Given the description of an element on the screen output the (x, y) to click on. 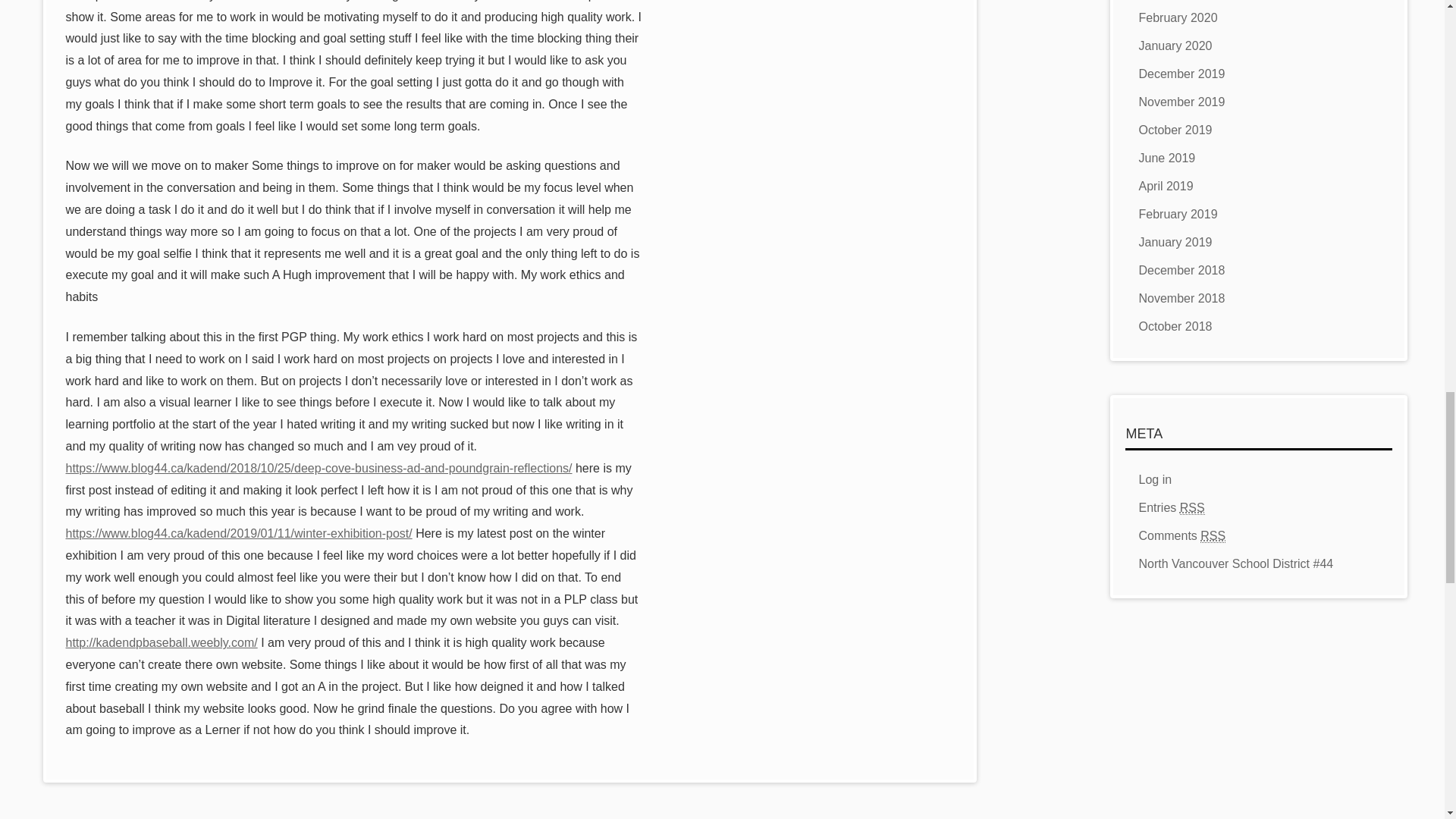
Really Simple Syndication (1192, 508)
Syndicate this site using RSS 2.0 (1171, 508)
Really Simple Syndication (1212, 535)
The latest comments to all posts in RSS (1181, 535)
